Given the description of an element on the screen output the (x, y) to click on. 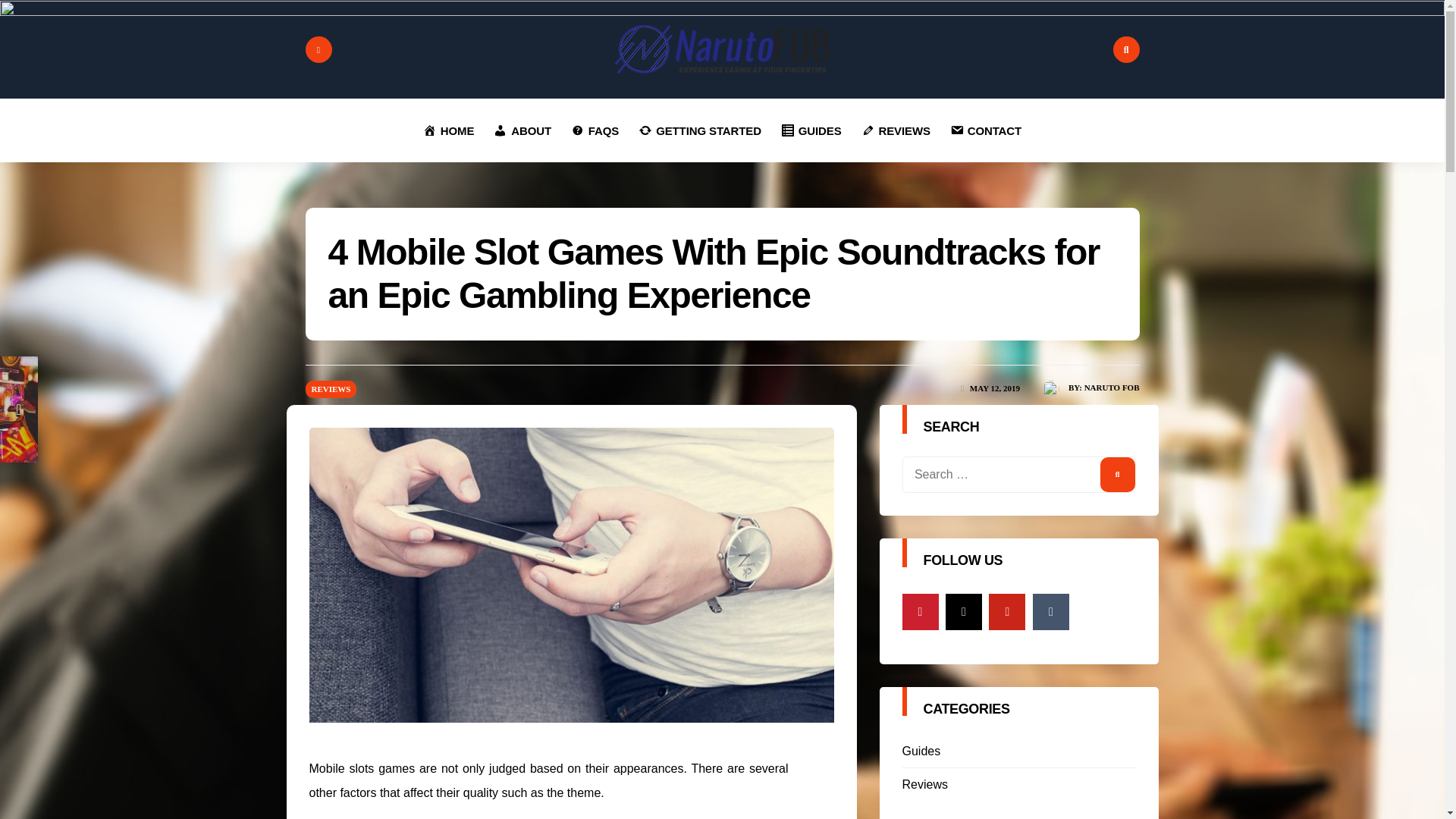
GUIDES (810, 130)
Narutologo (721, 49)
CONTACT (985, 130)
FAQS (594, 130)
quora (920, 611)
Pinterest (1006, 611)
Ello (962, 611)
GETTING STARTED (699, 130)
HOME (447, 130)
